Given the description of an element on the screen output the (x, y) to click on. 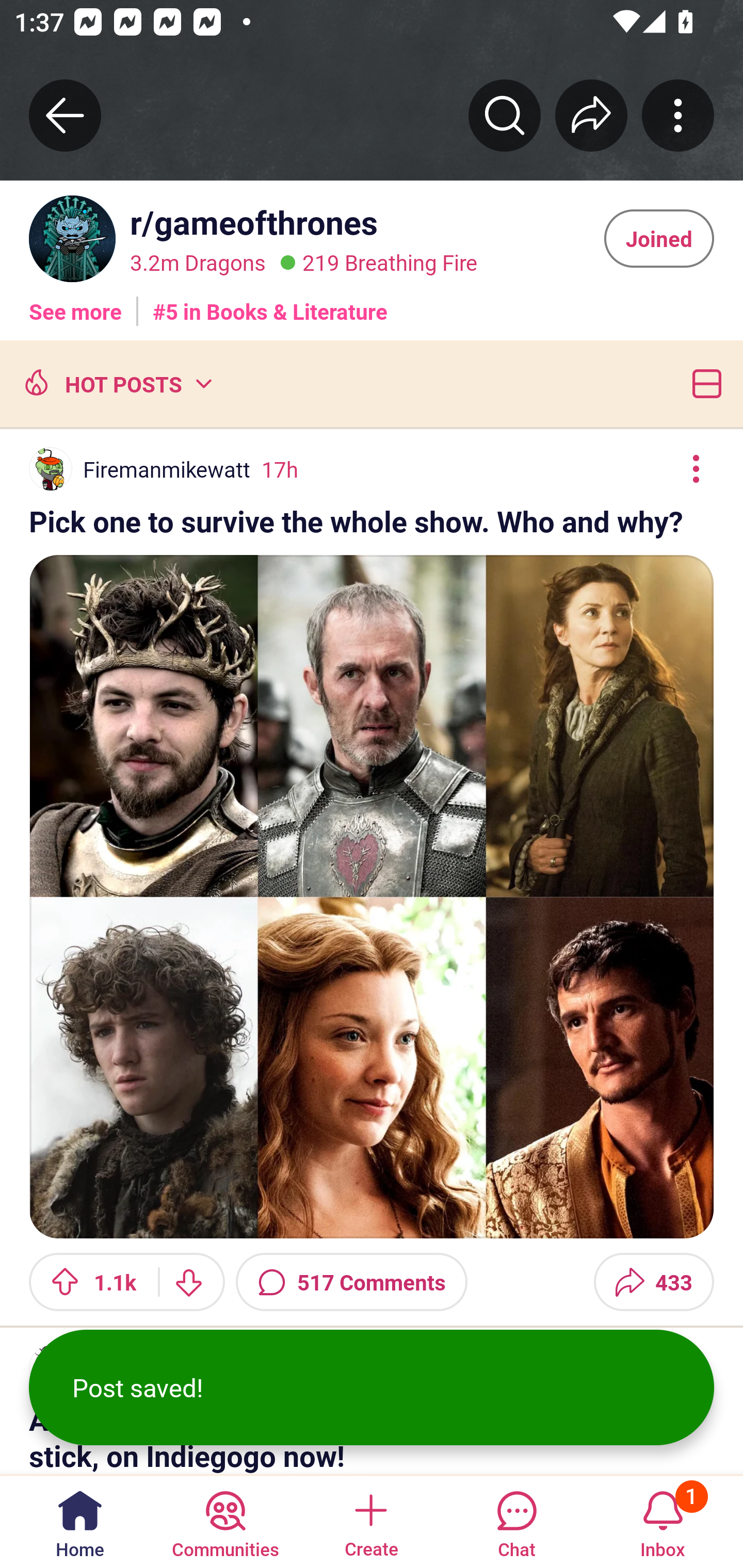
Back (64, 115)
Search r/﻿gameofthrones (504, 115)
Share r/﻿gameofthrones (591, 115)
More community actions (677, 115)
See more (74, 304)
#5 in Books & Literature (270, 304)
Hot posts HOT POSTS (116, 383)
Card (703, 383)
Home (80, 1520)
Communities (225, 1520)
Create a post Create (370, 1520)
Chat (516, 1520)
Inbox, has 1 notification 1 Inbox (662, 1520)
